Given the description of an element on the screen output the (x, y) to click on. 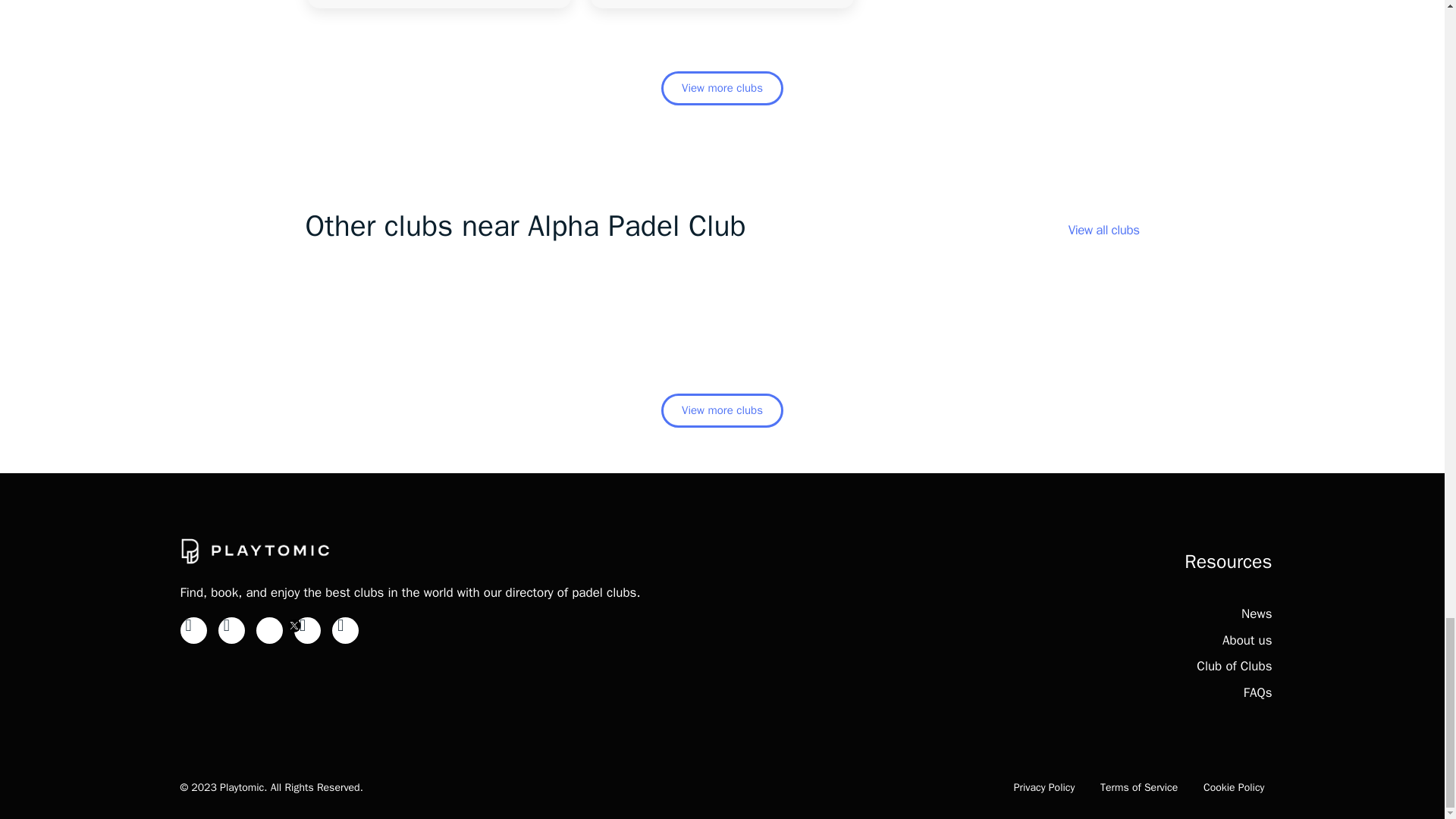
Club of Clubs (1233, 666)
View more clubs (722, 410)
FAQs (1257, 692)
Privacy Policy (1044, 787)
View more clubs (722, 88)
About us (1247, 640)
View all clubs (1104, 229)
Cookie Policy (1234, 787)
Terms of Service (1138, 787)
News (1256, 613)
